Given the description of an element on the screen output the (x, y) to click on. 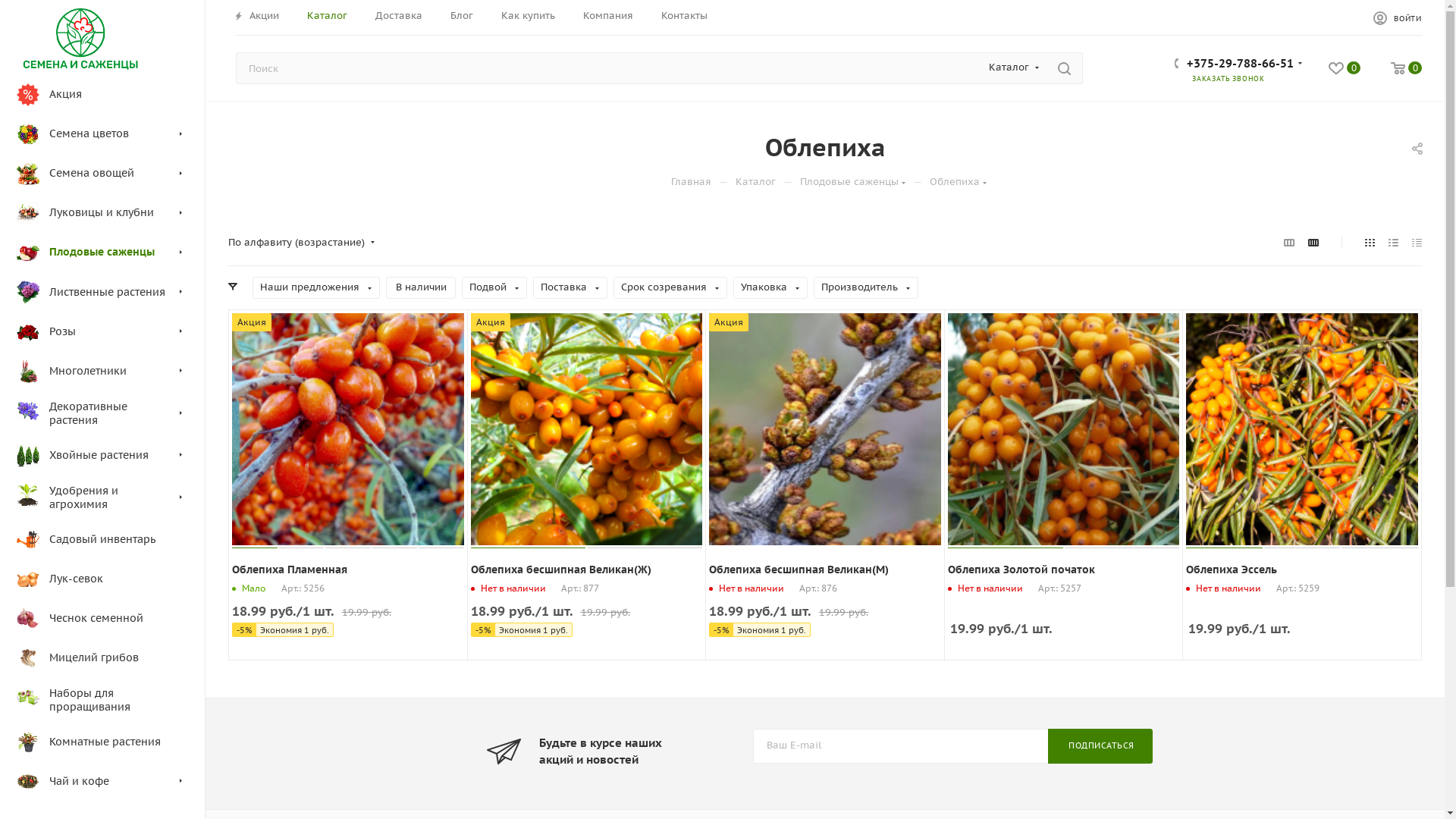
semena.by Element type: hover (80, 38)
+375-29-788-66-51 Element type: text (1239, 65)
0 Element type: text (1344, 69)
0 Element type: text (1406, 69)
Y Element type: text (4, 4)
